Given the description of an element on the screen output the (x, y) to click on. 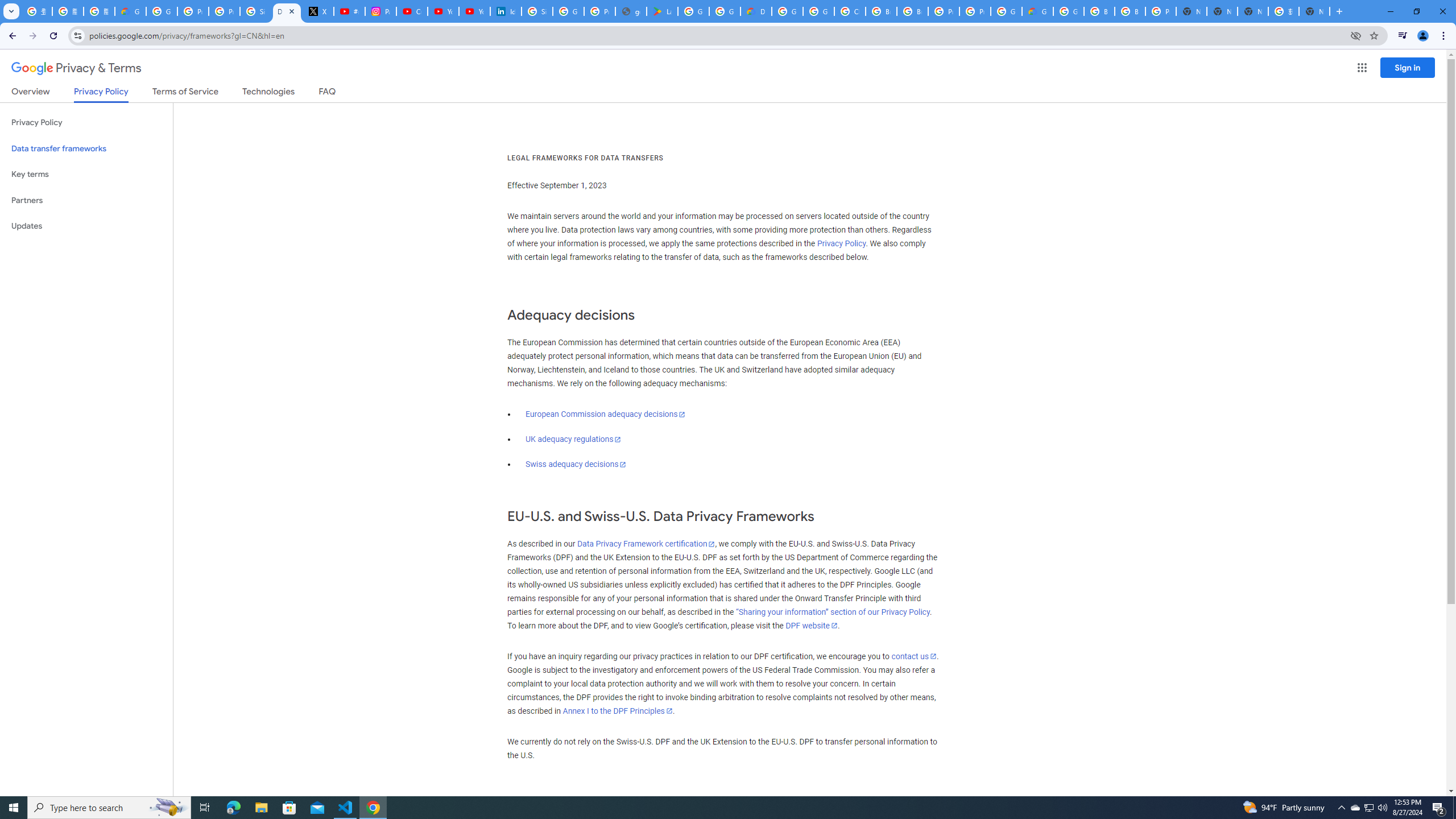
google_privacy_policy_en.pdf (631, 11)
Google Cloud Platform (1005, 11)
Swiss adequacy decisions (575, 464)
Key terms (86, 174)
Google Cloud Platform (1068, 11)
